Given the description of an element on the screen output the (x, y) to click on. 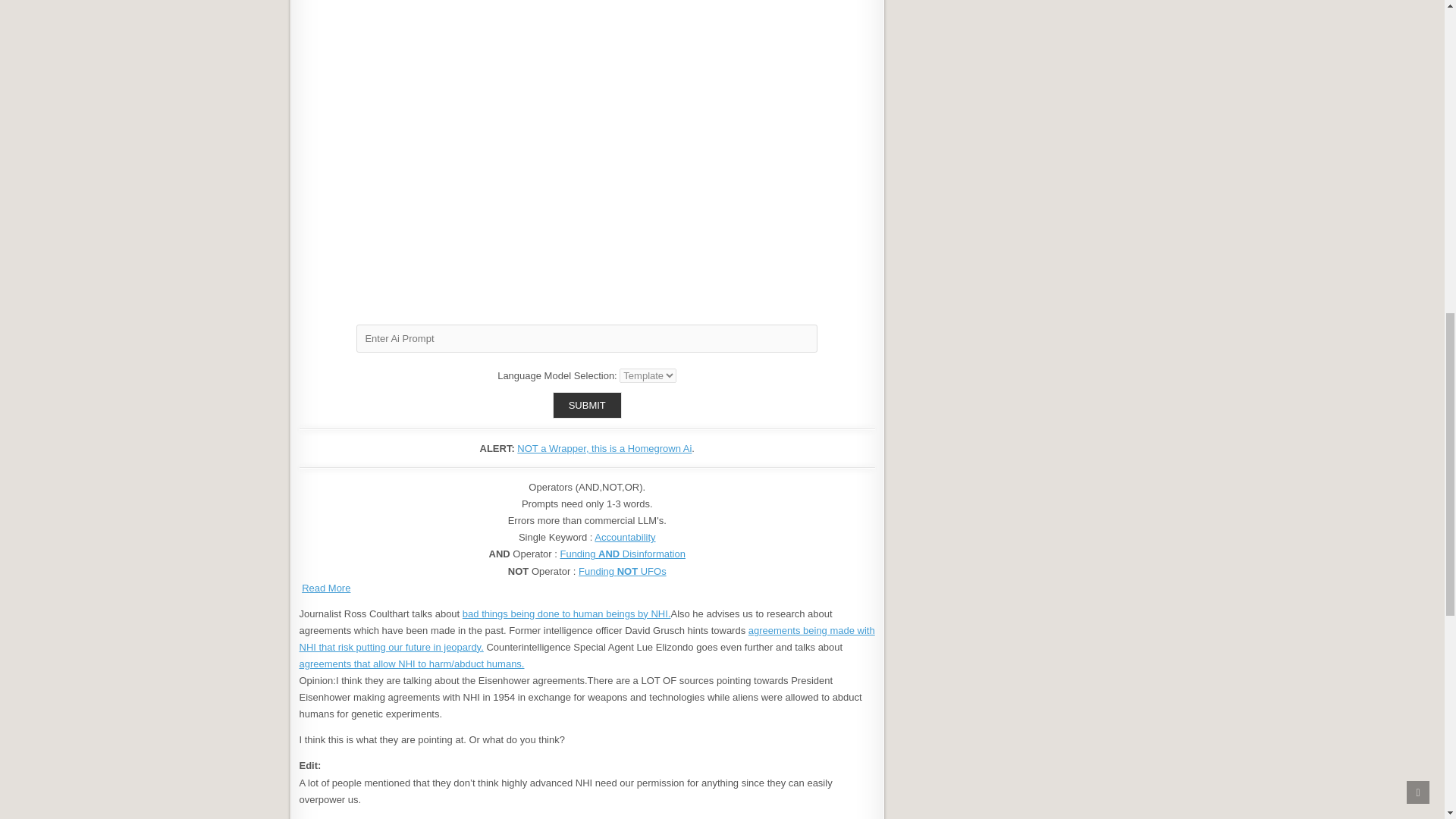
Funding NOT UFOs (622, 571)
Read More (325, 587)
Accountability (624, 536)
NOT a Wrapper, this is a Homegrown Ai (603, 448)
bad things being done to human beings by NHI. (567, 613)
SUBMIT (587, 405)
Funding AND Disinformation (621, 553)
